Given the description of an element on the screen output the (x, y) to click on. 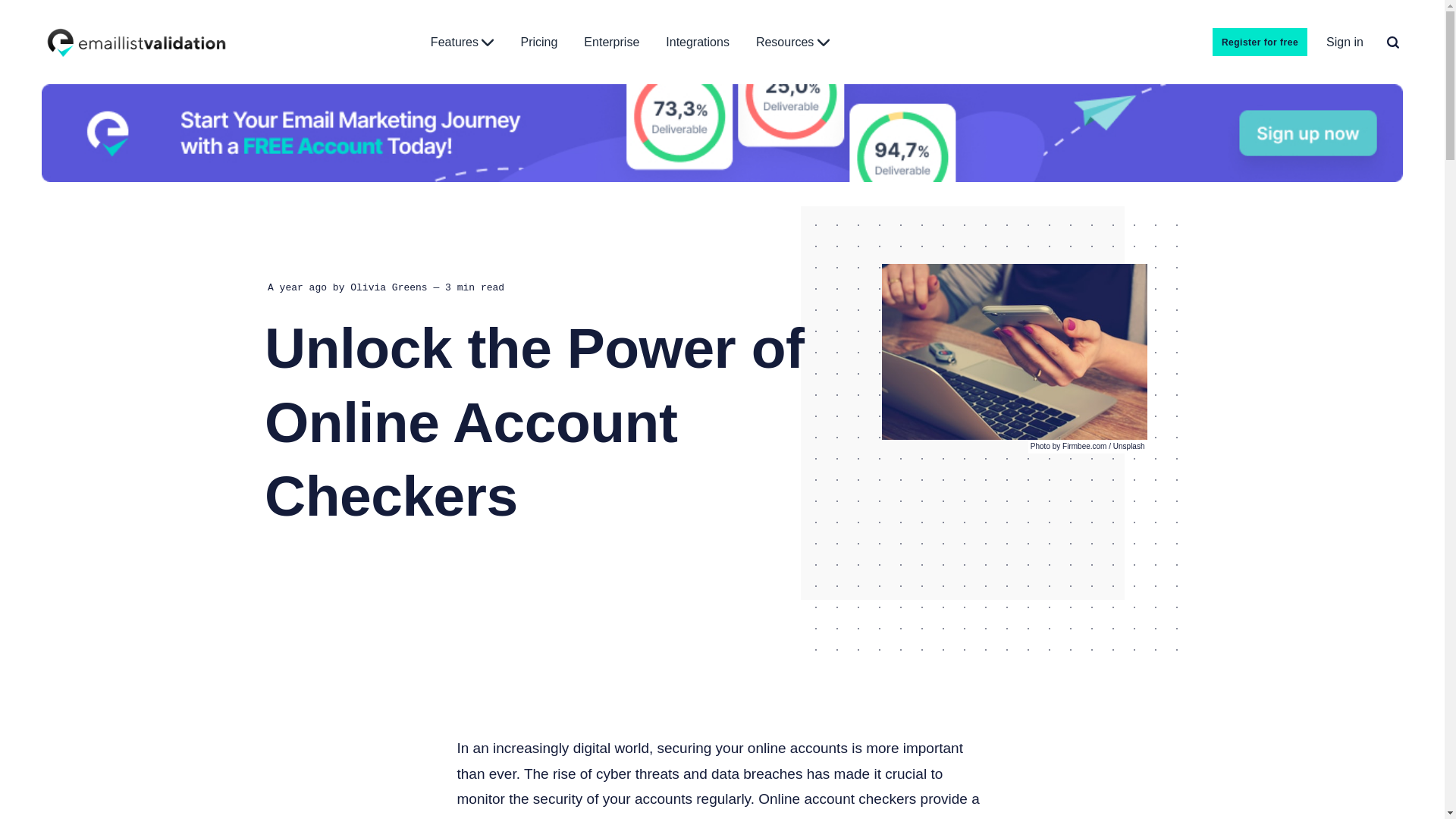
Sign in (1344, 41)
Firmbee.com (1084, 450)
Enterprise (611, 41)
Unsplash (1128, 449)
Features (462, 41)
Olivia Greens (388, 288)
Register for free (1259, 41)
Resources (792, 41)
Pricing (538, 41)
Integrations (697, 41)
